Given the description of an element on the screen output the (x, y) to click on. 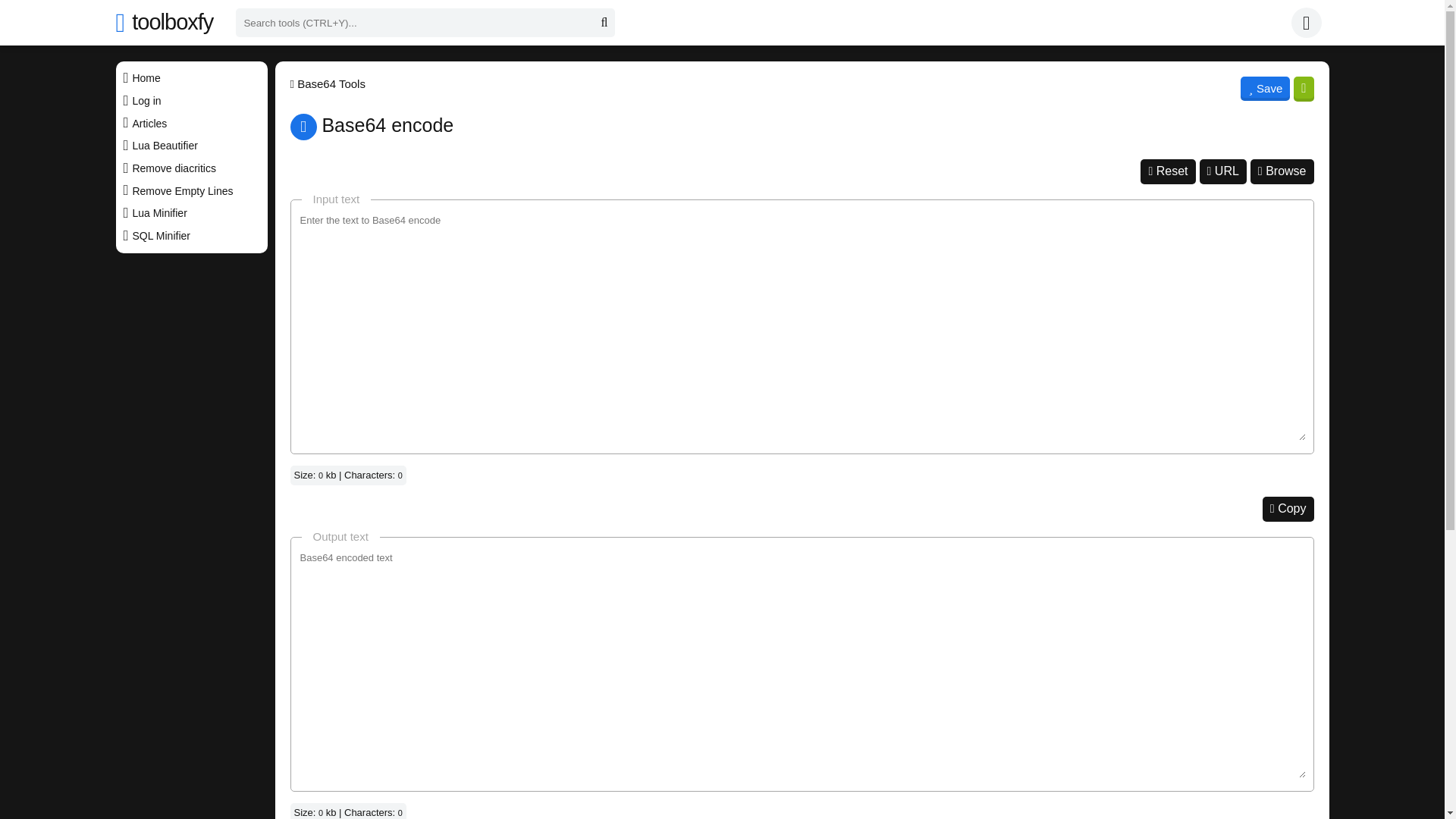
toolboxfy (163, 22)
Remove diacritics (190, 168)
SQL Minifier (190, 235)
Toolboxfy (190, 77)
Home (190, 77)
Remove Empty Lines (190, 189)
Lua Beautifier (190, 145)
Remove diacritics (190, 168)
Base64 Tools (327, 88)
Articles (190, 122)
Lua Minifier (190, 212)
Lua Beautifier (190, 145)
Base64 Tools (327, 88)
Log in (1308, 22)
Articles (190, 122)
